Given the description of an element on the screen output the (x, y) to click on. 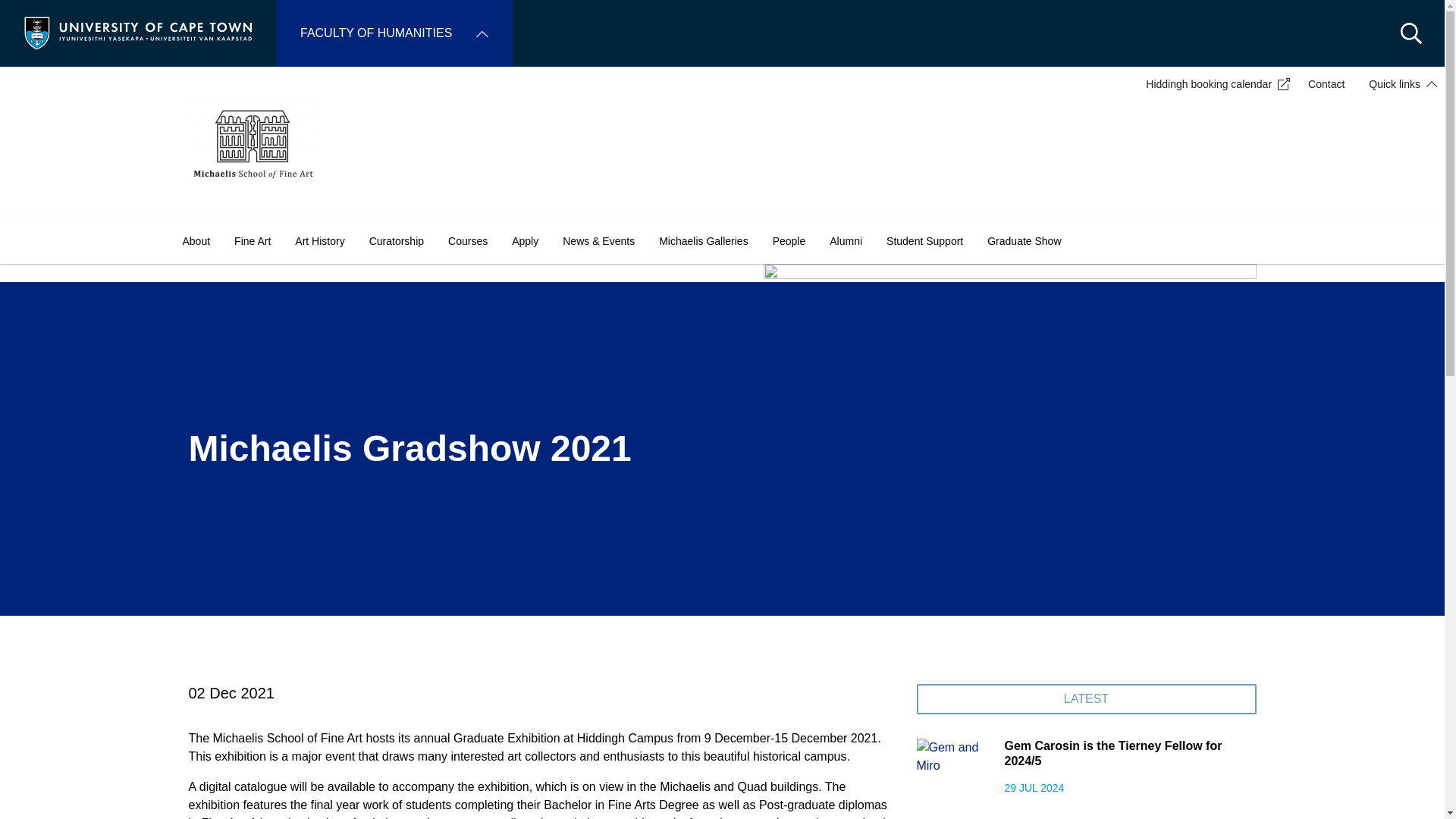
About (196, 240)
Fine Art (252, 240)
Hiddingh booking calendar (1214, 83)
Submit (32, 15)
Art History (319, 240)
Home (137, 31)
Contact (1325, 83)
FACULTY OF HUMANITIES (394, 33)
